Given the description of an element on the screen output the (x, y) to click on. 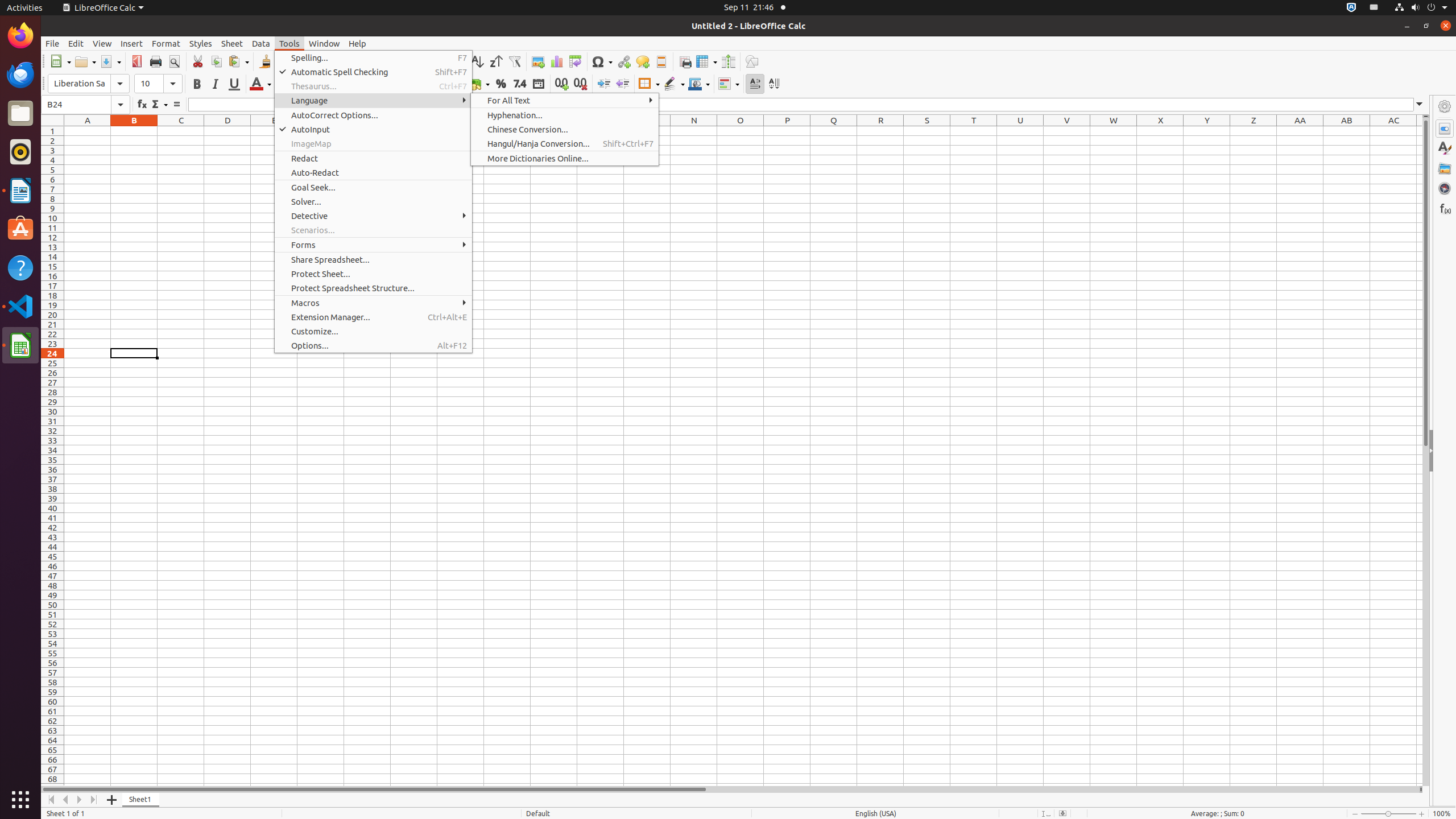
AC1 Element type: table-cell (1393, 130)
Pivot Table Element type: push-button (574, 61)
G1 Element type: table-cell (367, 130)
Chinese Conversion... Element type: menu-item (564, 129)
